Given the description of an element on the screen output the (x, y) to click on. 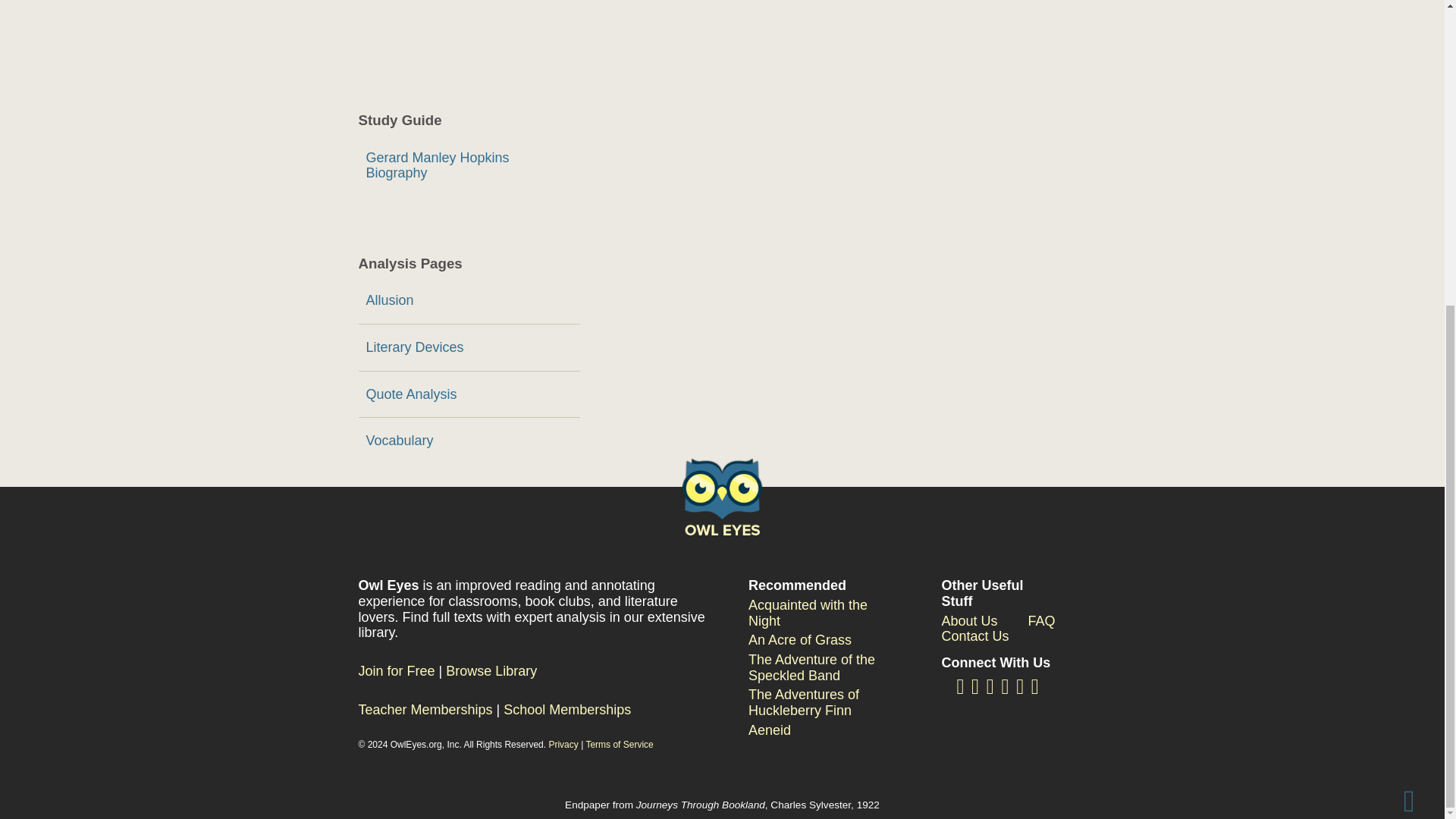
The Caged Skylark Gerard Manley Hopkins Biography (468, 165)
The Caged Skylark Allusion (468, 300)
The Caged Skylark Quote Analysis (468, 394)
The Caged Skylark Literary Devices (468, 347)
The Caged Skylark Vocabulary (468, 440)
